Given the description of an element on the screen output the (x, y) to click on. 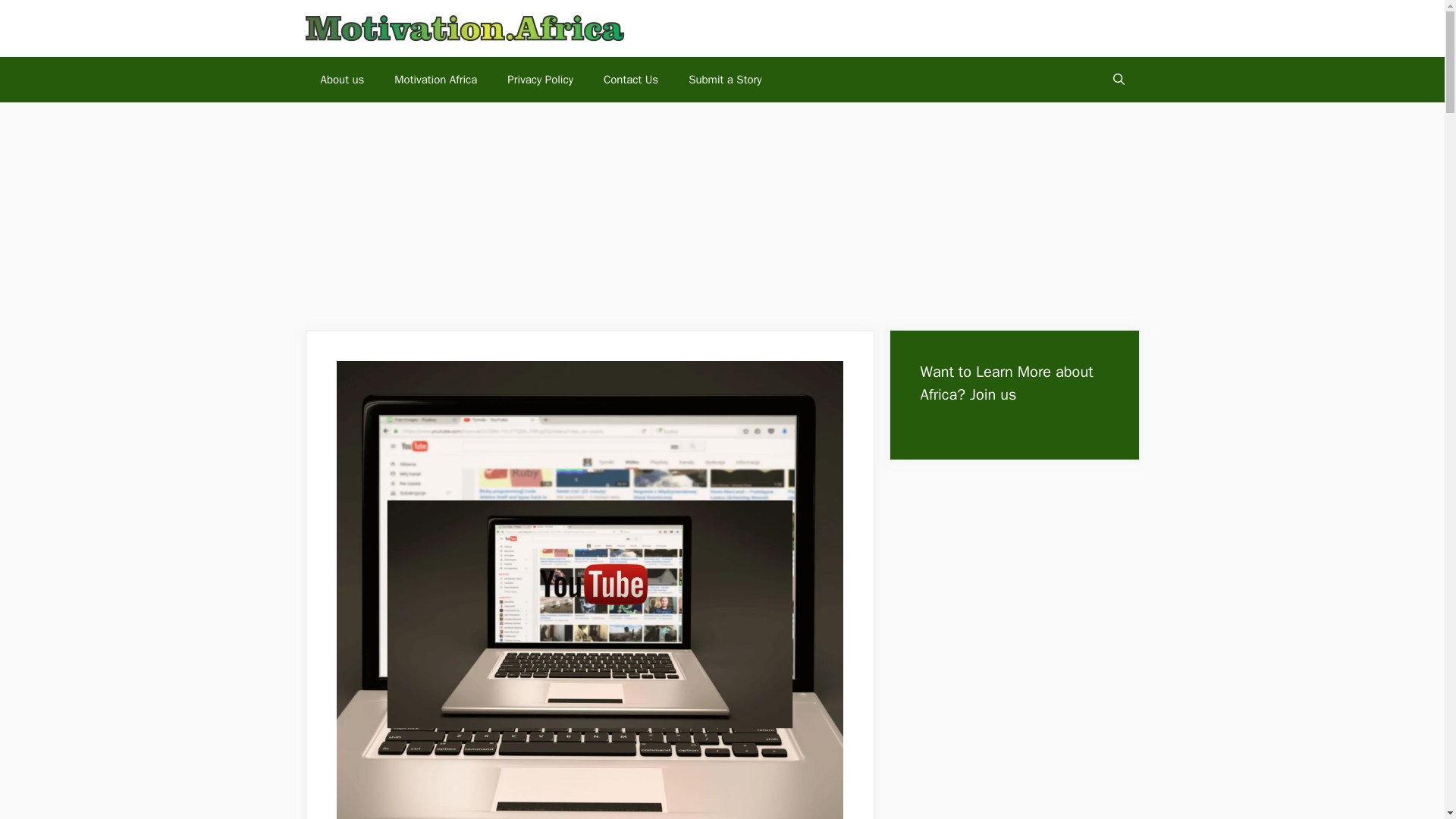
Submit a Story (724, 79)
Contact Us (630, 79)
Motivation Africa (435, 79)
About us (341, 79)
Privacy Policy (540, 79)
